Given the description of an element on the screen output the (x, y) to click on. 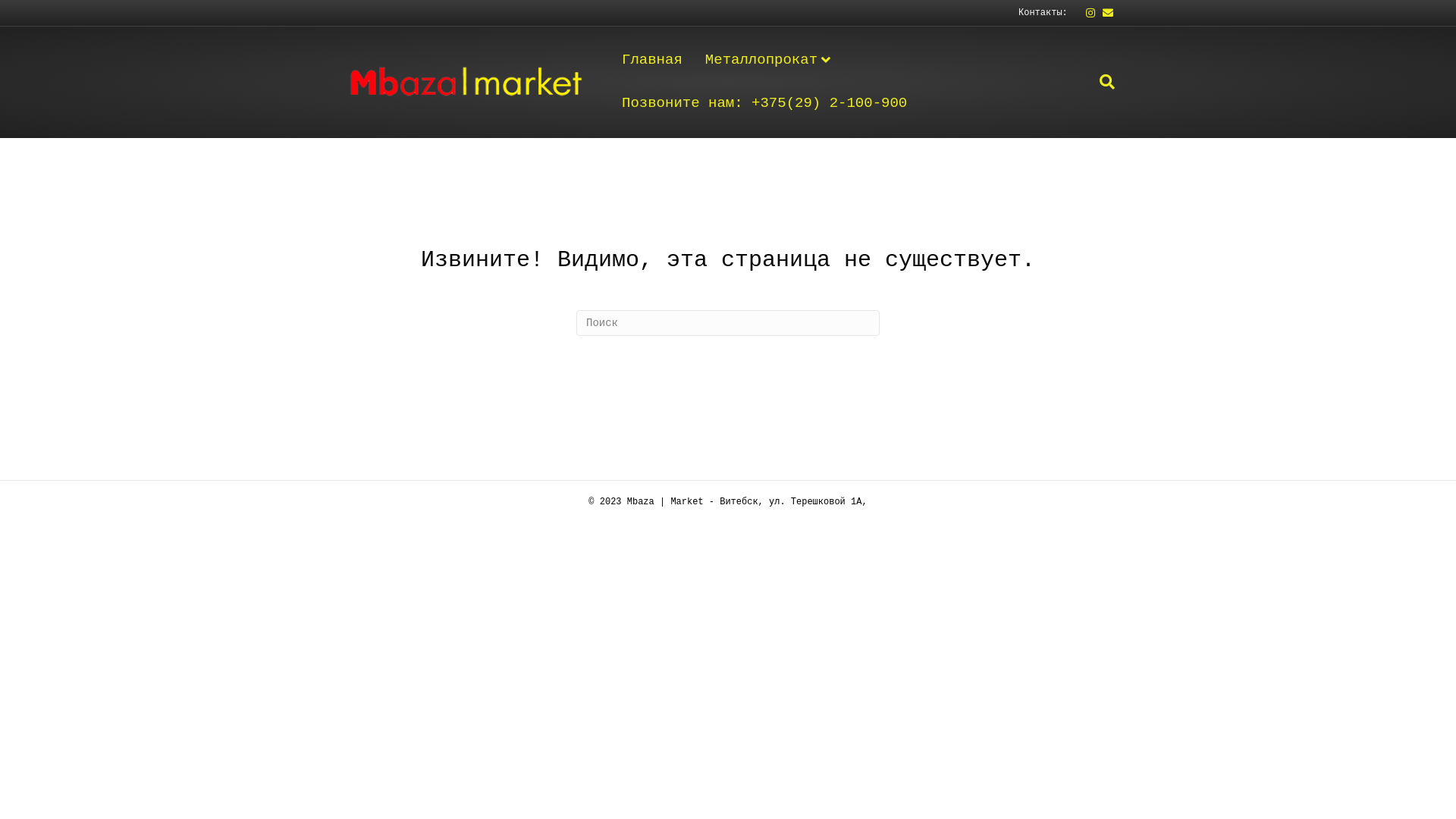
Email Element type: text (1104, 12)
Instagram Element type: text (1085, 12)
